Given the description of an element on the screen output the (x, y) to click on. 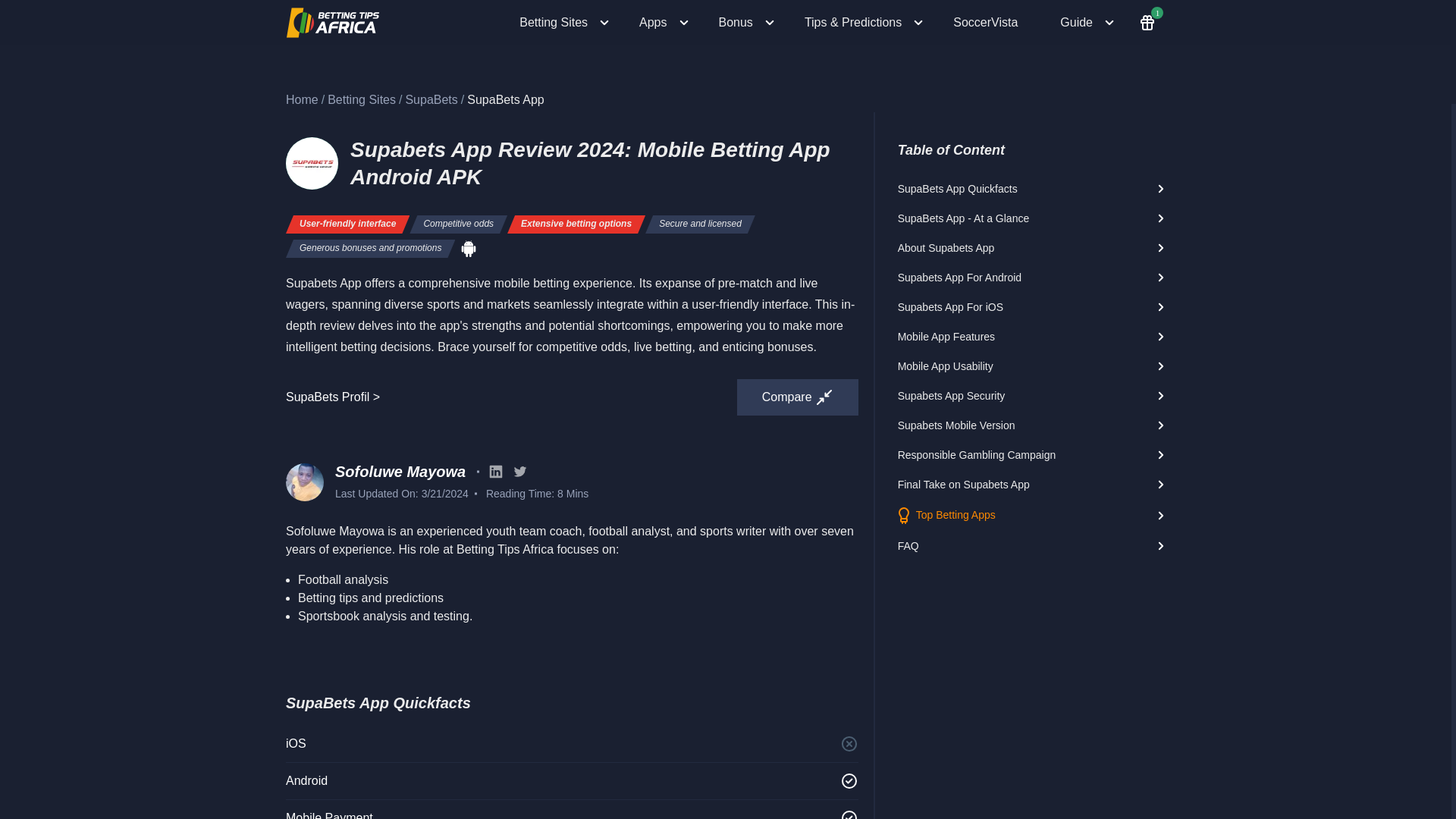
Apps (663, 22)
Betting Sites (563, 22)
times (849, 743)
SupaBets logo (311, 163)
Home (301, 99)
Bonus (746, 22)
Android (468, 248)
compress (823, 397)
SupaBets (430, 99)
Betting Sites (361, 99)
Sofoluwe Mayowa (399, 471)
SupaBets (430, 99)
Betting Sites (361, 99)
Compare (797, 397)
Twitter (519, 471)
